Given the description of an element on the screen output the (x, y) to click on. 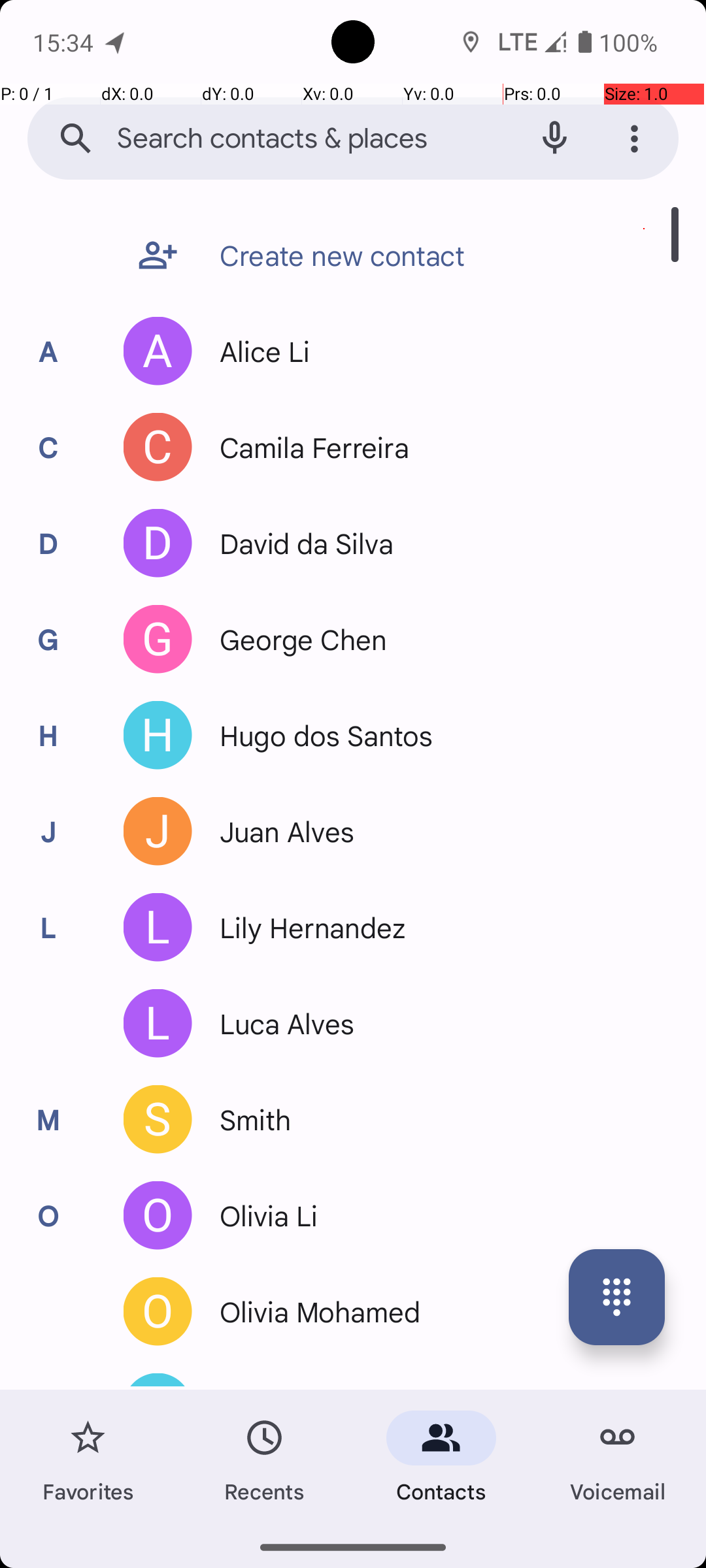
Voicemail Element type: android.widget.FrameLayout (617, 1457)
Quick contact for Alice Li Element type: android.widget.QuickContactBadge (157, 350)
Alice Li Element type: android.widget.TextView (257, 350)
Quick contact for Camila Ferreira Element type: android.widget.QuickContactBadge (157, 446)
Camila Ferreira Element type: android.widget.TextView (307, 446)
Quick contact for David da Silva Element type: android.widget.QuickContactBadge (157, 542)
David da Silva Element type: android.widget.TextView (299, 542)
Quick contact for George Chen Element type: android.widget.QuickContactBadge (157, 638)
George Chen Element type: android.widget.TextView (296, 638)
Quick contact for Hugo dos Santos Element type: android.widget.QuickContactBadge (157, 735)
Hugo dos Santos Element type: android.widget.TextView (319, 735)
Quick contact for Juan Alves Element type: android.widget.QuickContactBadge (157, 831)
Juan Alves Element type: android.widget.TextView (280, 831)
Quick contact for Lily Hernandez Element type: android.widget.QuickContactBadge (157, 927)
Lily Hernandez Element type: android.widget.TextView (305, 927)
Quick contact for Luca Alves Element type: android.widget.QuickContactBadge (157, 1023)
Luca Alves Element type: android.widget.TextView (280, 1023)
Quick contact for Smith Element type: android.widget.QuickContactBadge (157, 1119)
Smith Element type: android.widget.TextView (248, 1119)
Quick contact for Olivia Li Element type: android.widget.QuickContactBadge (157, 1215)
Olivia Li Element type: android.widget.TextView (261, 1215)
Quick contact for Olivia Mohamed Element type: android.widget.QuickContactBadge (157, 1311)
Olivia Mohamed Element type: android.widget.TextView (313, 1311)
Quick contact for Santiago Fernandez Element type: android.widget.QuickContactBadge (157, 1379)
Santiago Fernandez Element type: android.widget.TextView (337, 1379)
